Given the description of an element on the screen output the (x, y) to click on. 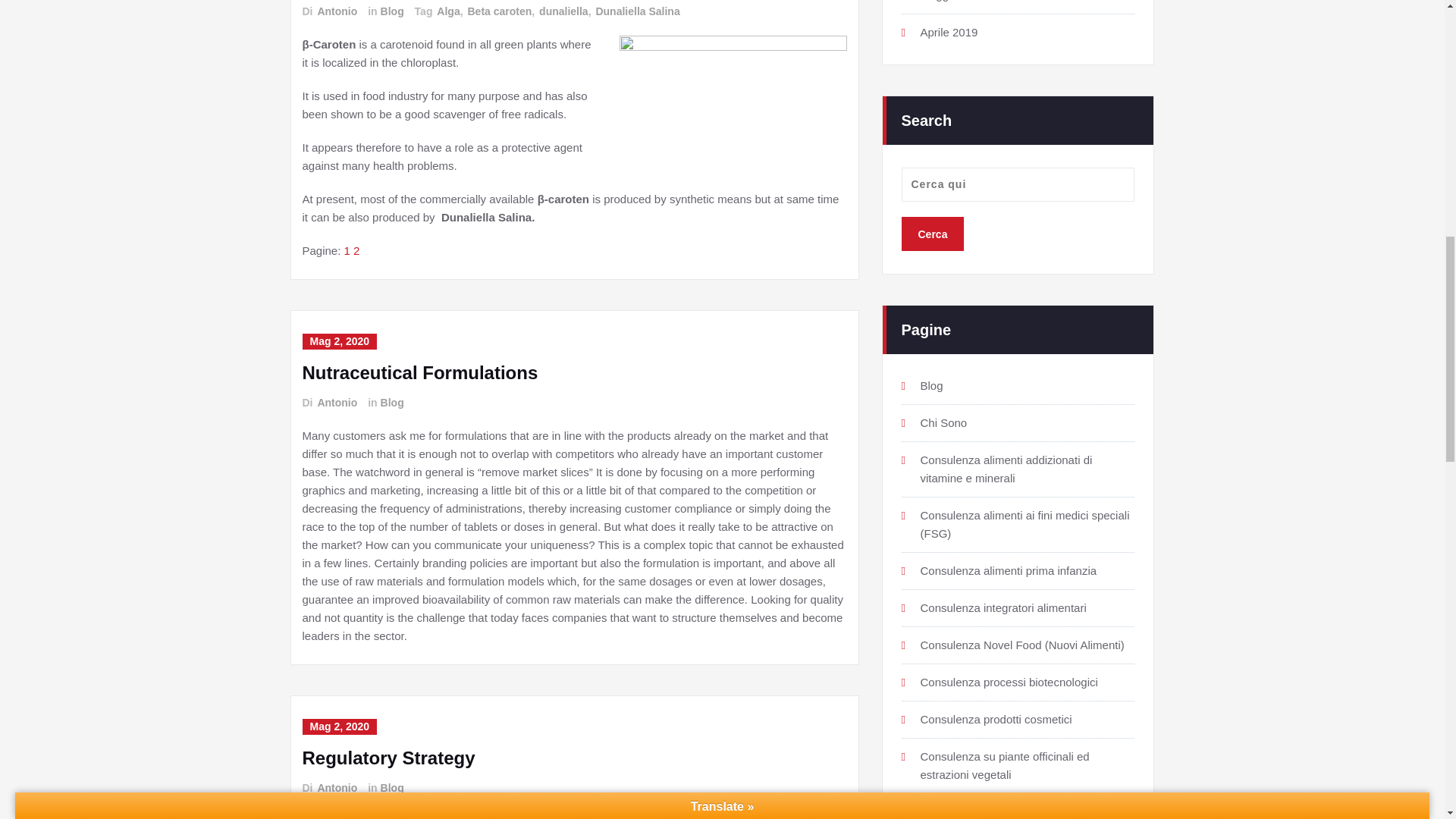
Alga (447, 11)
Dunaliella Salina (636, 11)
Blog (391, 11)
dunaliella (562, 11)
Cerca (932, 233)
Cerca (932, 233)
Antonio (335, 11)
Beta caroten (498, 11)
